Given the description of an element on the screen output the (x, y) to click on. 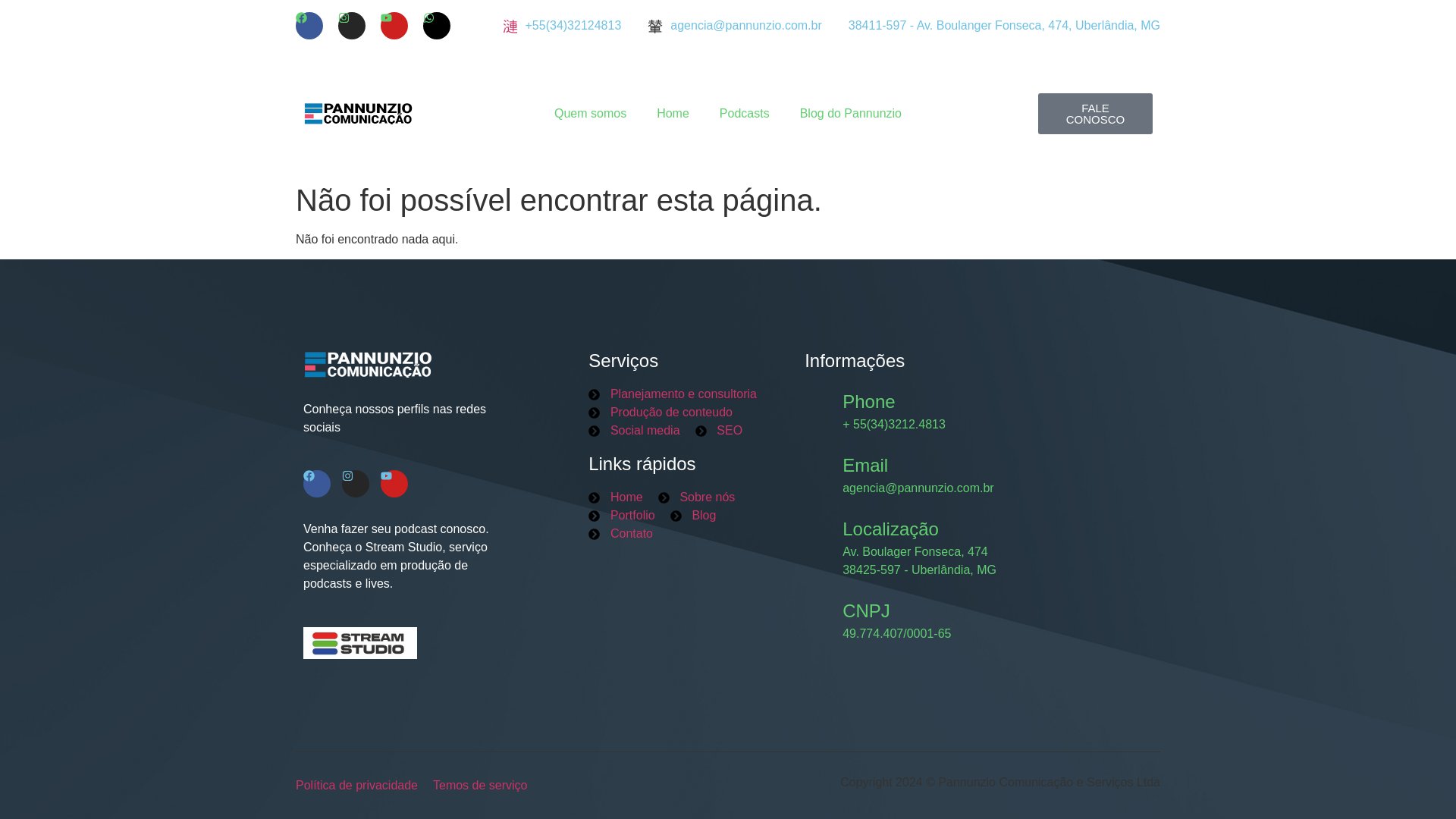
CNPJ (866, 610)
Contato (620, 533)
Home (672, 113)
Podcasts (744, 113)
Blog do Pannunzio (850, 113)
Phone (869, 401)
Quem somos (590, 113)
Social media (633, 430)
Blog (692, 515)
Planejamento e consultoria (672, 393)
